Given the description of an element on the screen output the (x, y) to click on. 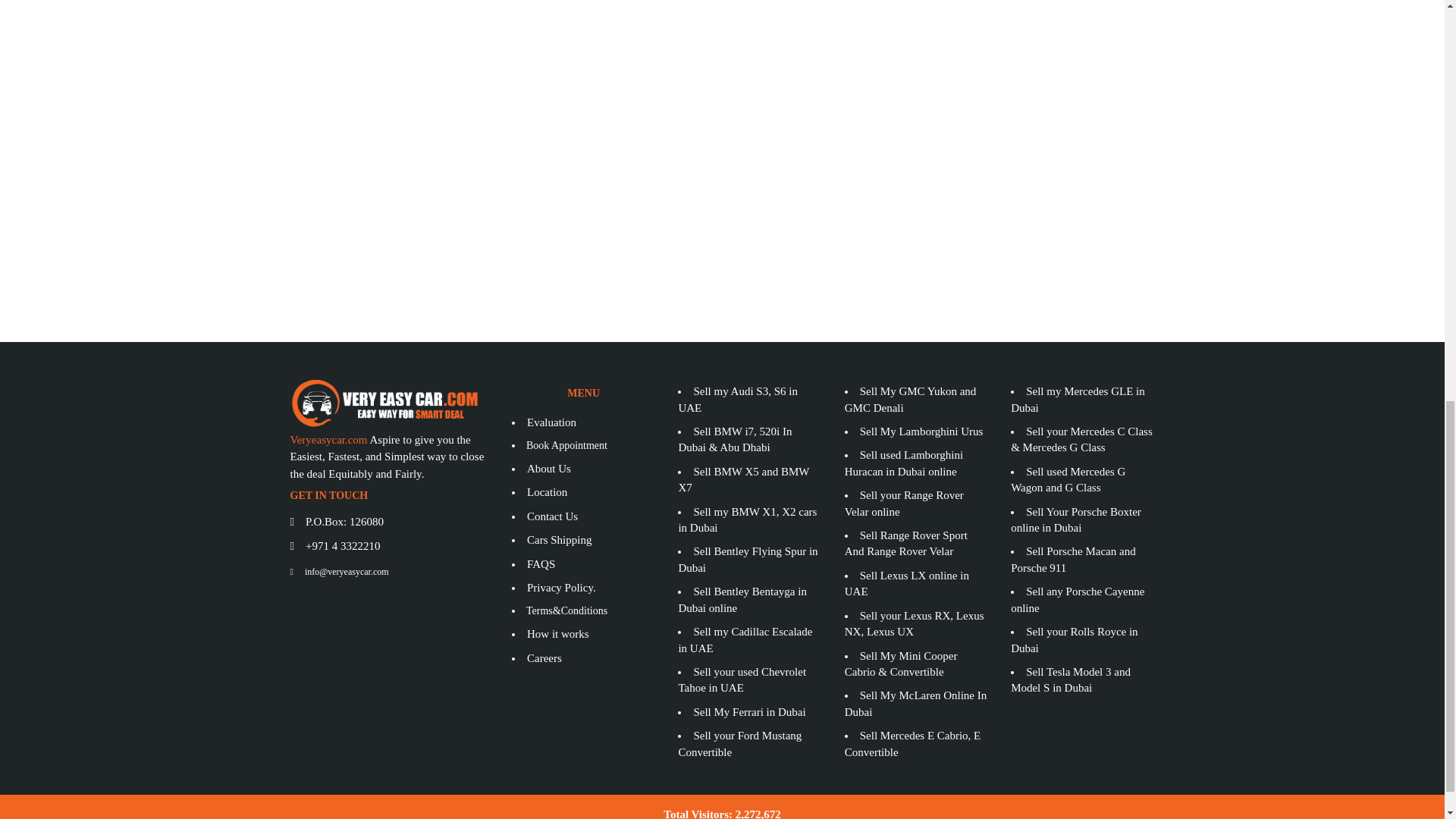
Sell my car online - Get car value (721, 91)
